Given the description of an element on the screen output the (x, y) to click on. 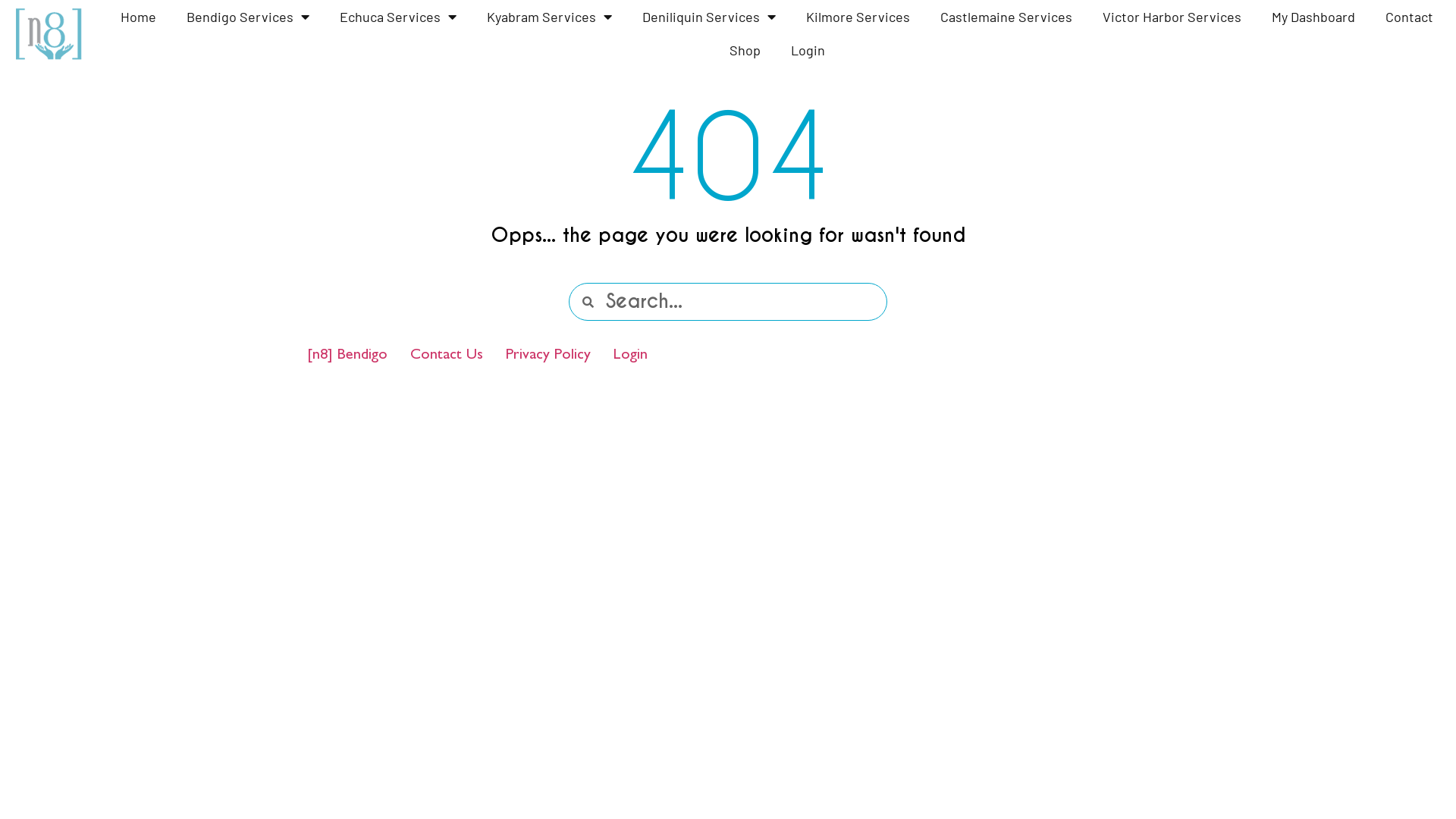
Bendigo Services Element type: text (247, 16)
My Dashboard Element type: text (1313, 16)
Login Element type: text (630, 355)
Login Element type: text (807, 49)
Castlemaine Services Element type: text (1006, 16)
Kilmore Services Element type: text (857, 16)
Kyabram Services Element type: text (549, 16)
Contact Element type: text (1409, 16)
Victor Harbor Services Element type: text (1171, 16)
Deniliquin Services Element type: text (708, 16)
Contact Us Element type: text (446, 355)
Privacy Policy Element type: text (548, 355)
[n8] Bendigo Element type: text (346, 355)
Echuca Services Element type: text (397, 16)
Shop Element type: text (744, 49)
Home Element type: text (138, 16)
